Given the description of an element on the screen output the (x, y) to click on. 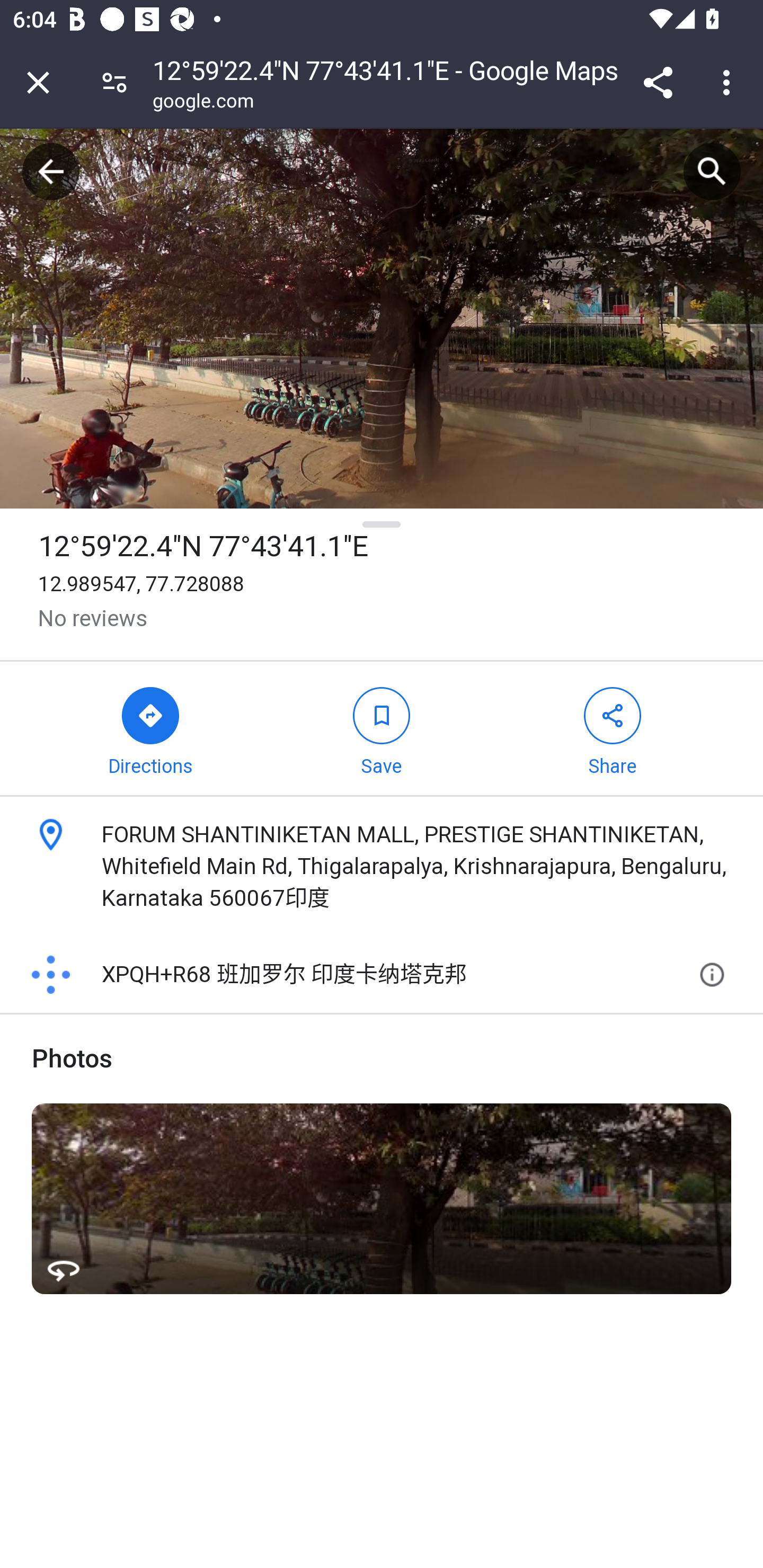
Close tab (38, 82)
Share (657, 82)
Customize and control Google Chrome (729, 82)
Connection is secure (114, 81)
google.com (203, 103)
Back (50, 171)
Search (711, 171)
Hide details (381, 524)
Directions to 12°59'22.4"N 77°43'41.1"E (151, 728)
Save 12°59'22.4"N 77°43'41.1"E in your lists (381, 728)
Share 12°59'22.4"N 77°43'41.1"E (611, 728)
Plus code: XPQH+R68 班加罗尔 印度卡纳塔克邦 (357, 975)
Learn more about plus codes (715, 975)
Street View (381, 1198)
